Given the description of an element on the screen output the (x, y) to click on. 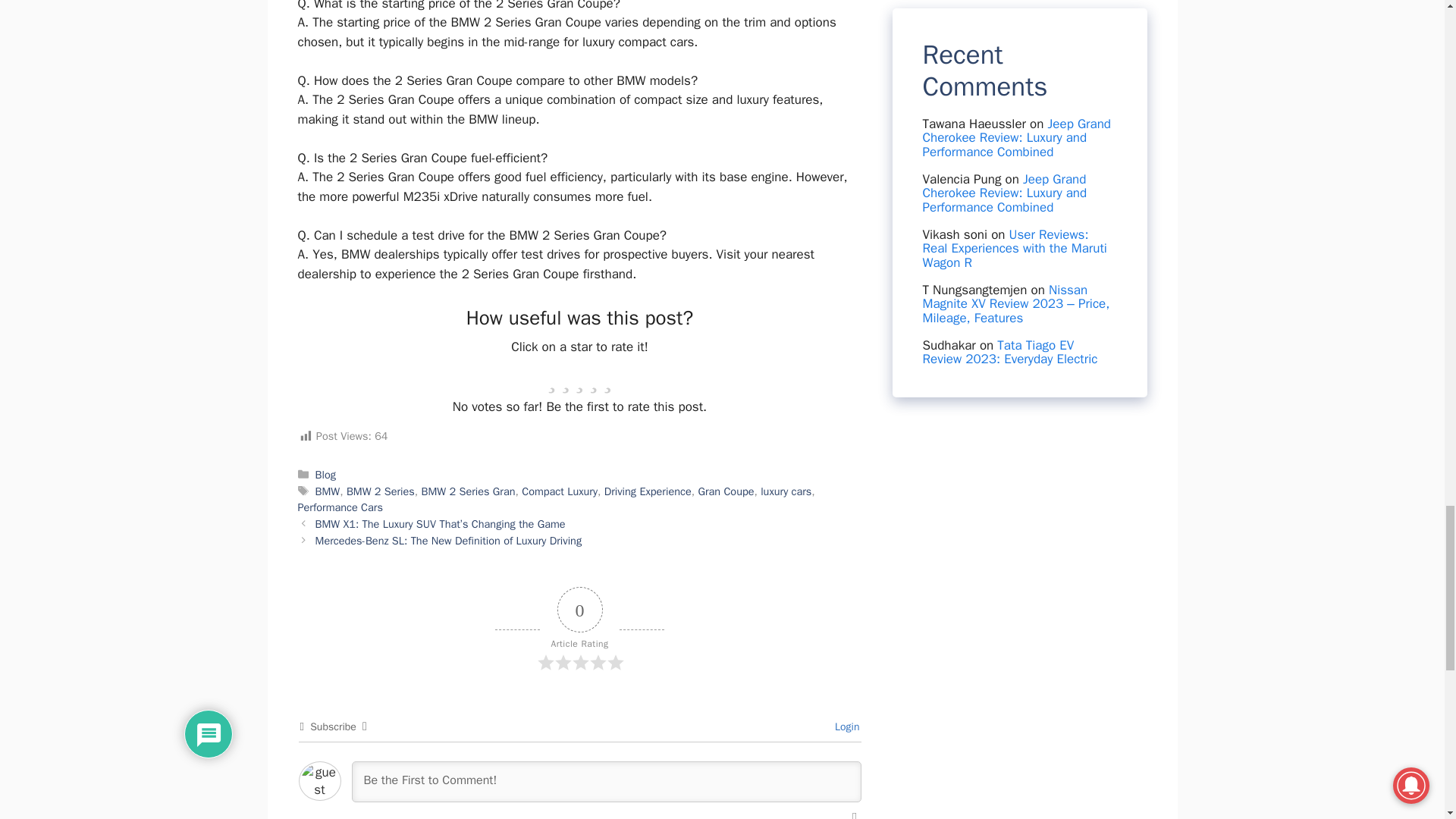
Blog (325, 474)
luxury cars (785, 490)
BMW 2 Series (380, 490)
BMW (327, 490)
Driving Experience (647, 490)
Compact Luxury (558, 490)
BMW 2 Series Gran (468, 490)
Login (844, 726)
Gran Coupe (725, 490)
Mercedes-Benz SL: The New Definition of Luxury Driving (448, 540)
Performance Cars (339, 507)
